Given the description of an element on the screen output the (x, y) to click on. 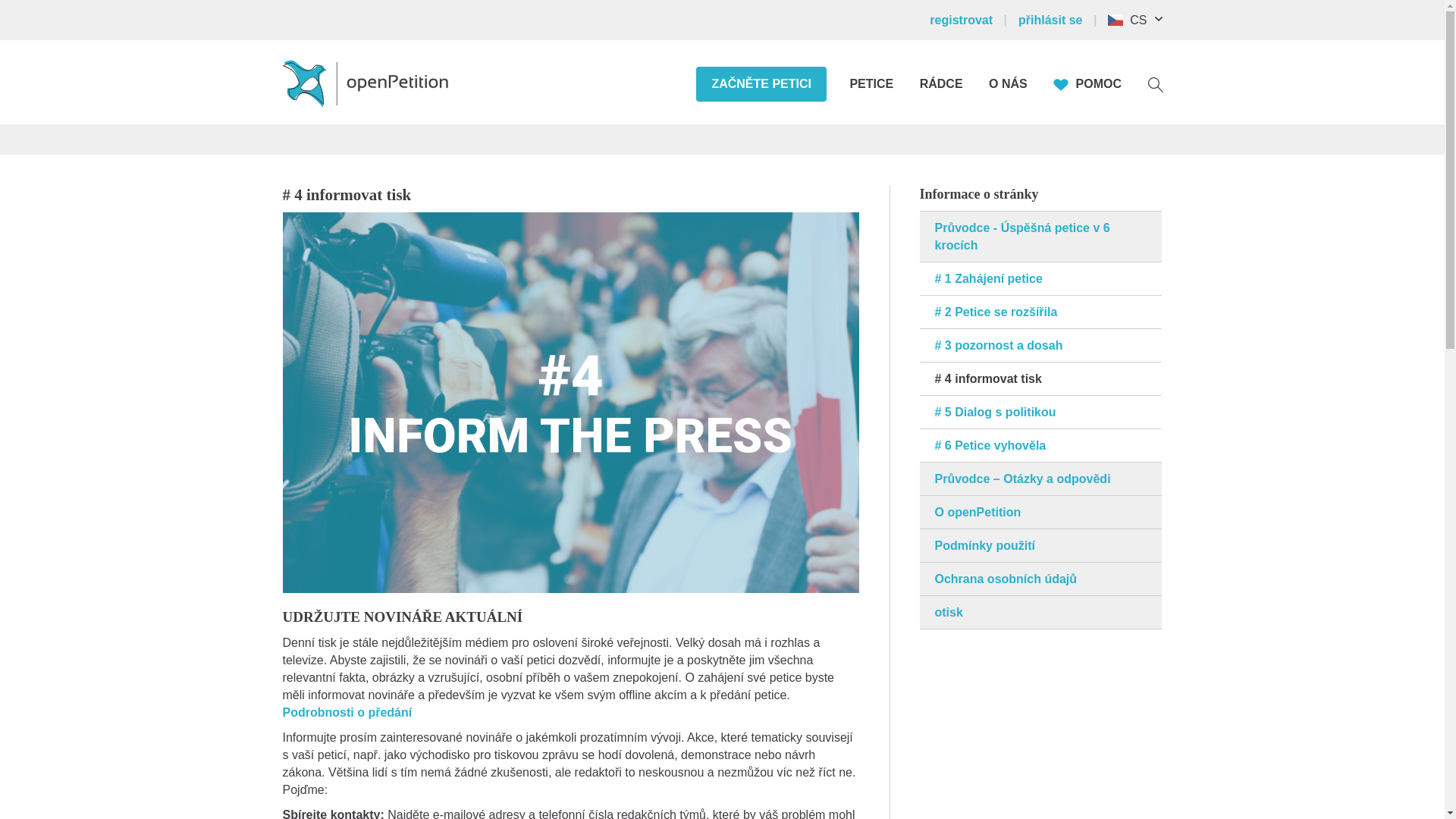
  CS (1142, 19)
registrovat (972, 19)
